Given the description of an element on the screen output the (x, y) to click on. 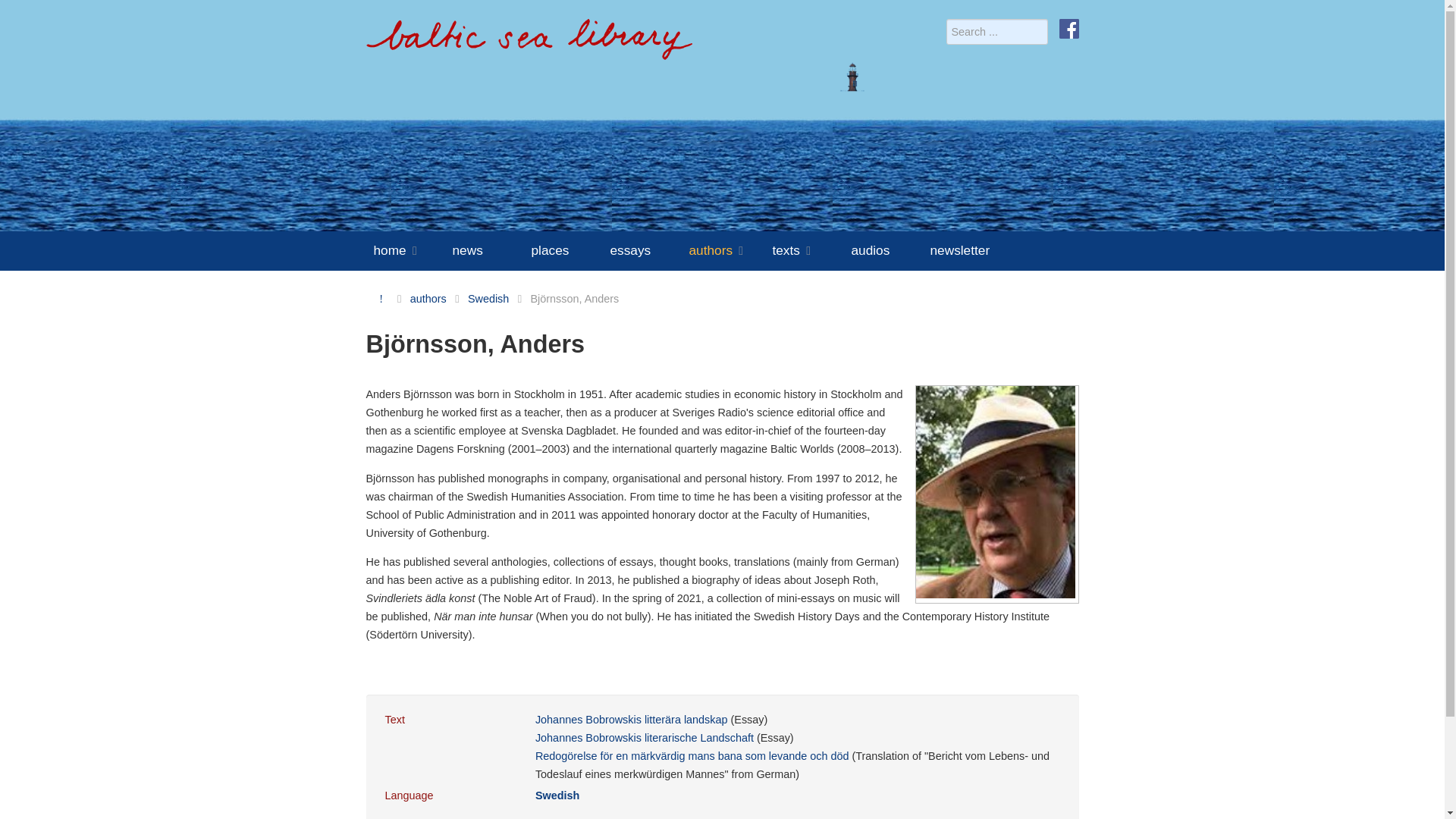
essays (645, 249)
places (566, 249)
texts (807, 250)
home (528, 45)
home (408, 250)
authors (726, 250)
news (487, 249)
Home (380, 298)
